Given the description of an element on the screen output the (x, y) to click on. 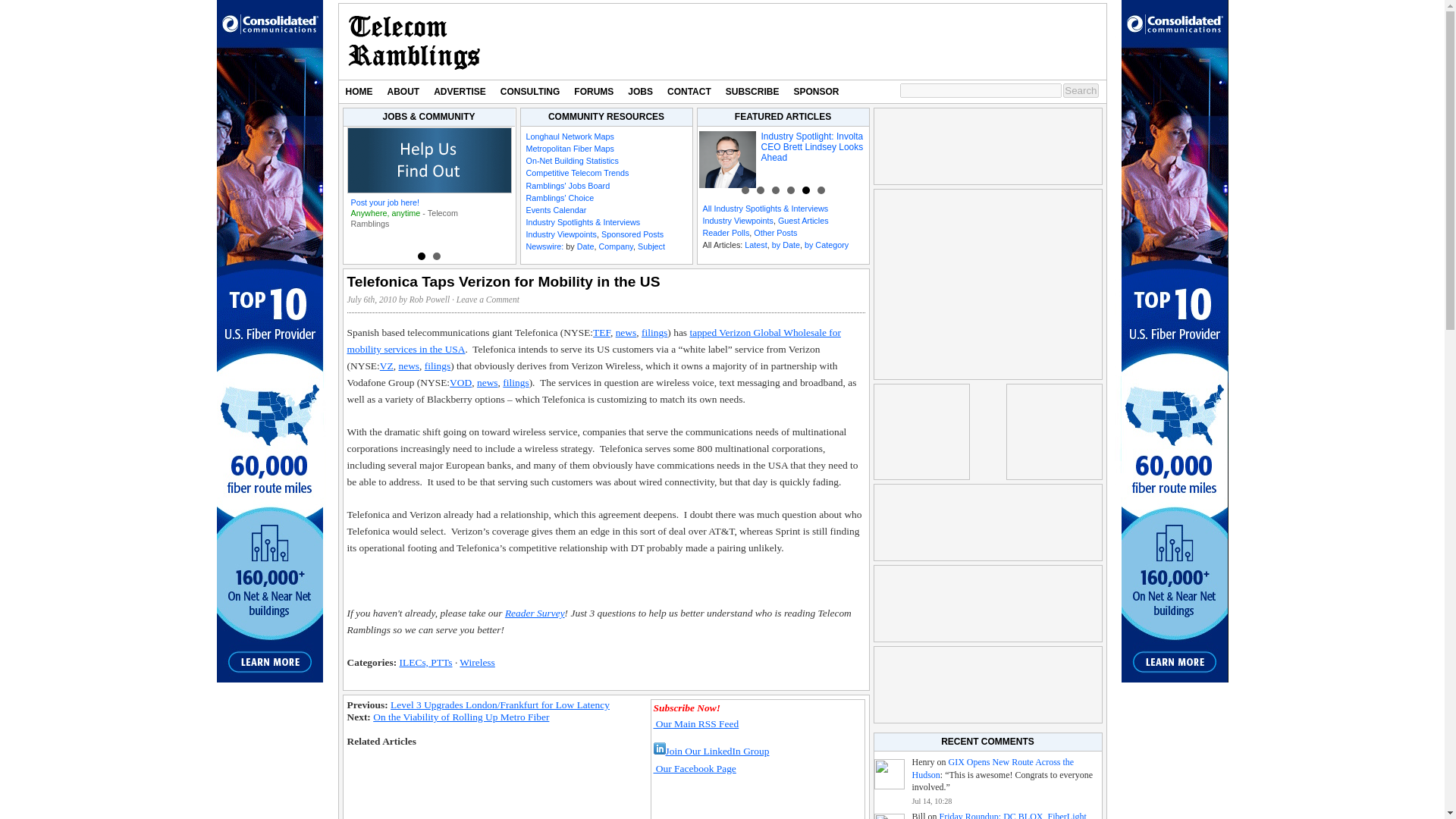
Metropolitan Fiber Maps (569, 148)
2 (435, 256)
Search (1079, 90)
1 (420, 256)
Ramblings' Choice (559, 197)
3rd party ad content (986, 146)
JOBS (640, 91)
3rd party ad content (986, 684)
3rd party ad content (826, 41)
Subject (651, 245)
CONSULTING (529, 91)
Posts by Rob Powell (429, 298)
Post your job here! (384, 202)
Sponsored Posts (632, 234)
Newswire: (544, 245)
